Given the description of an element on the screen output the (x, y) to click on. 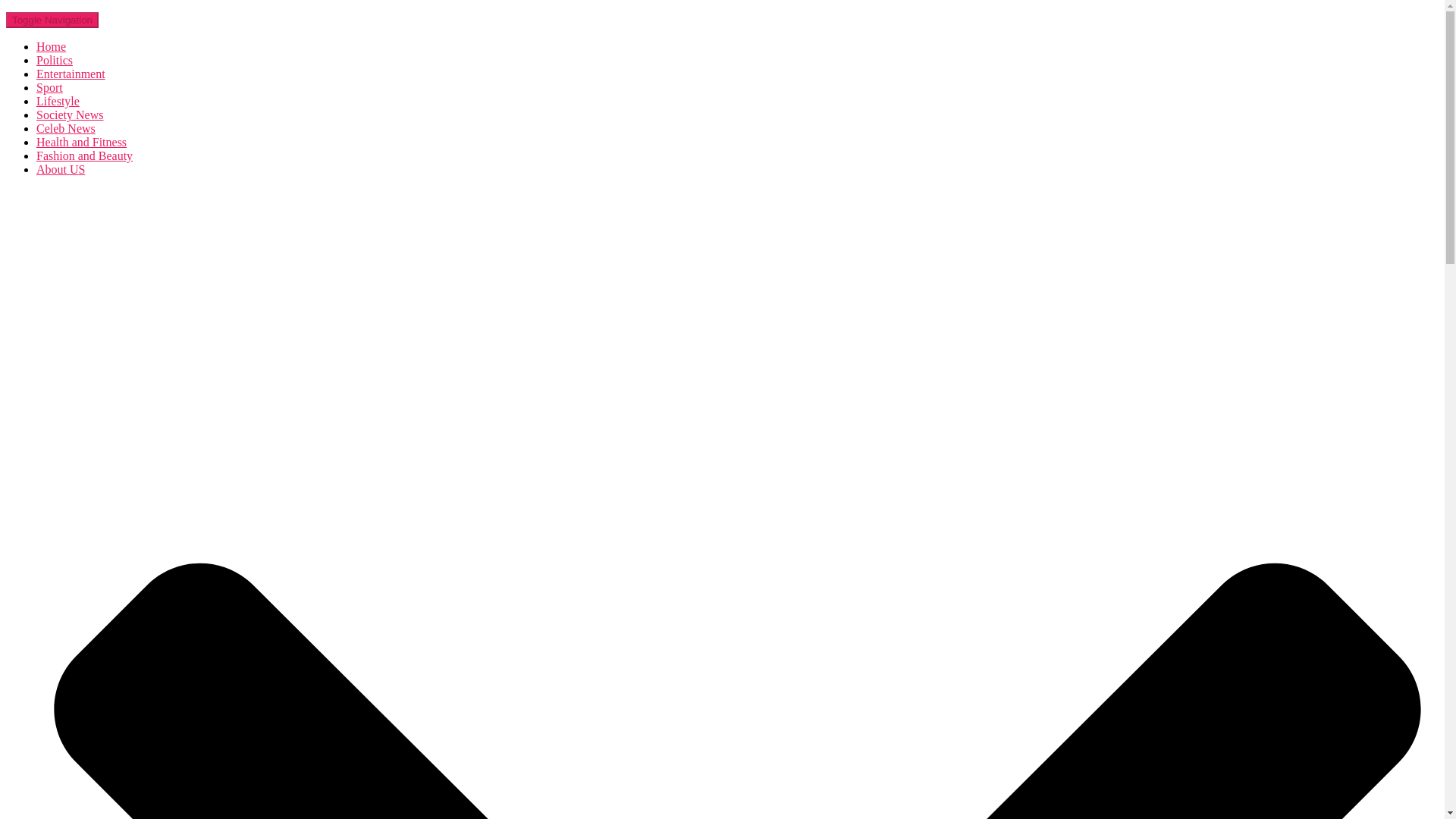
Lifestyle (58, 101)
Society News (69, 114)
Toggle Navigation (52, 19)
Entertainment (70, 73)
Society News (69, 114)
Health and Fitness (81, 141)
Celeb News (66, 128)
Entertainment (70, 73)
Politics (54, 60)
Lifestyle (58, 101)
Sport (49, 87)
Politics (54, 60)
Sport (49, 87)
Celeb News (66, 128)
Health and Fitness (81, 141)
